Given the description of an element on the screen output the (x, y) to click on. 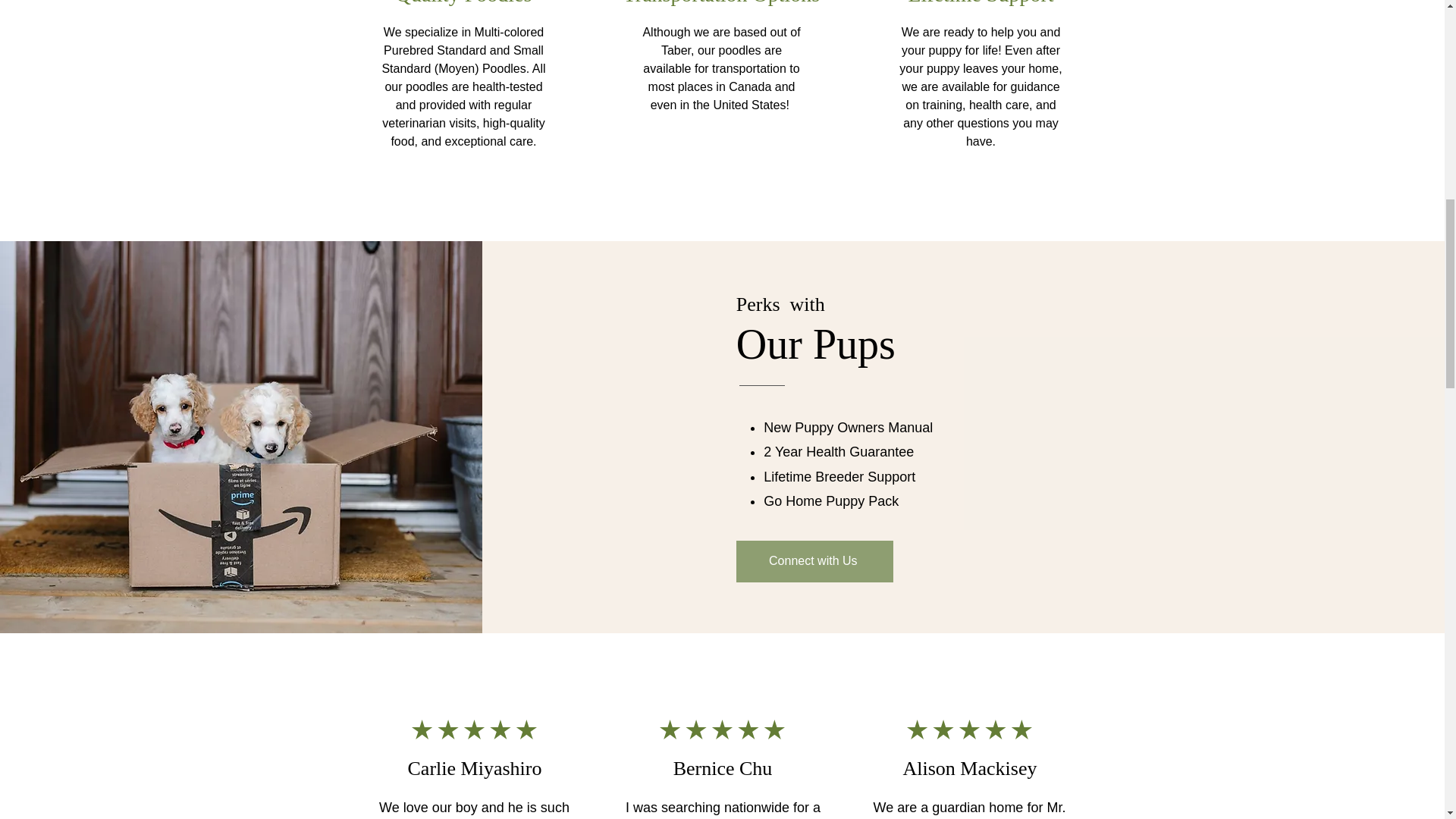
Connect with Us (814, 561)
